Given the description of an element on the screen output the (x, y) to click on. 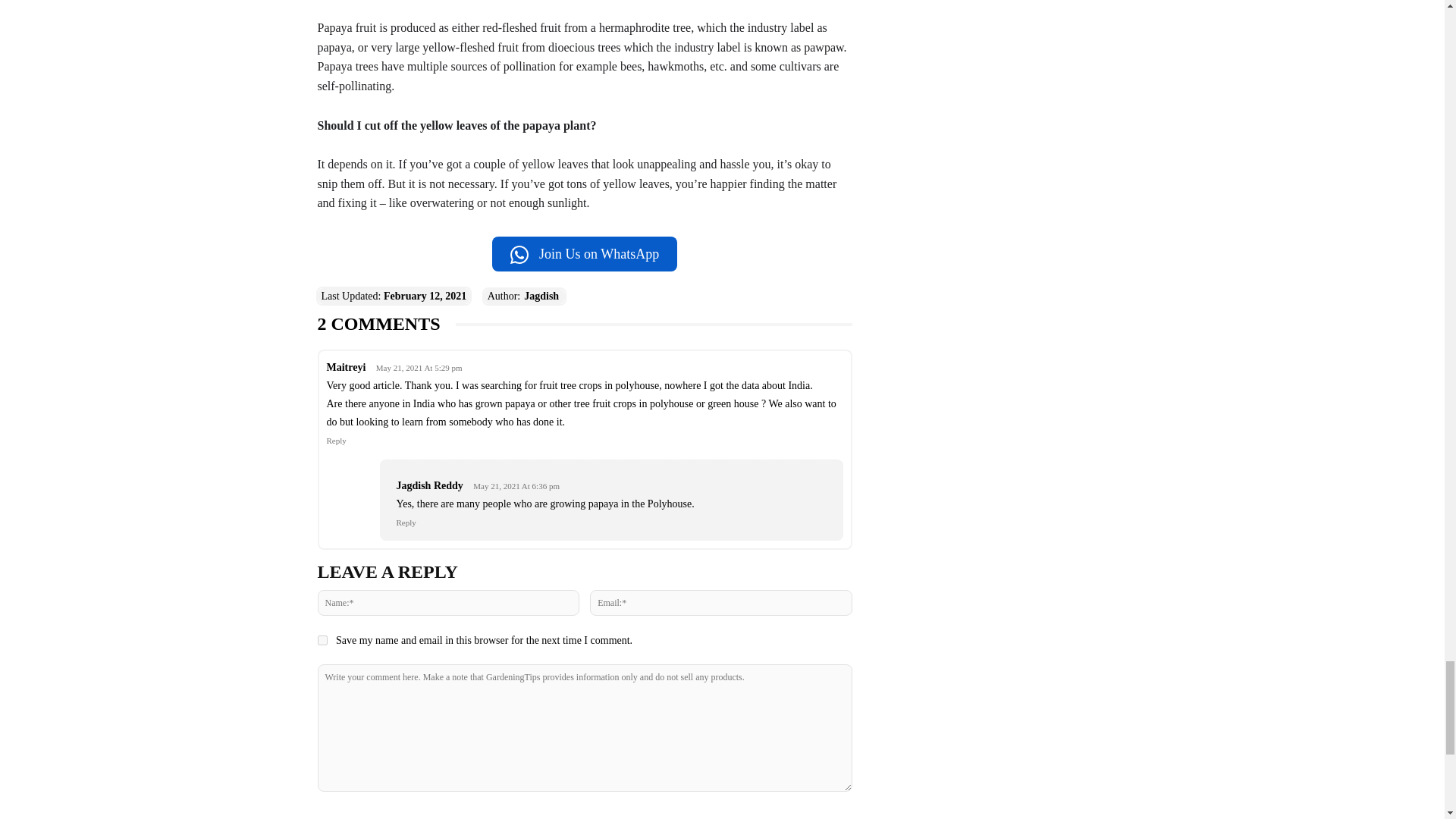
Join Us on WhatsApp (584, 253)
Post Comment (584, 813)
yes (321, 640)
